Given the description of an element on the screen output the (x, y) to click on. 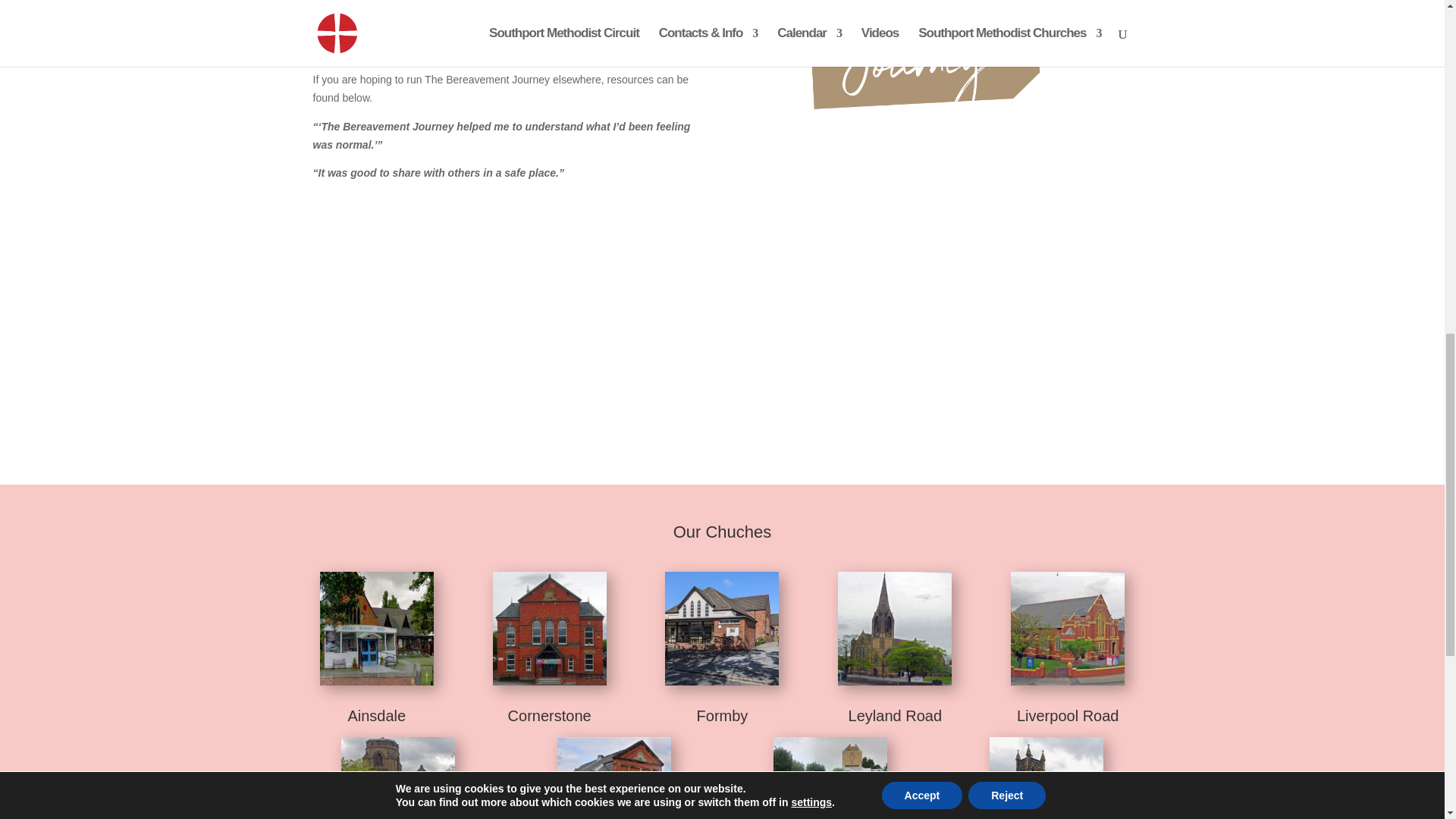
St-Philip-and-Paul-2 (1046, 778)
Elbow Lane Formby Front (721, 628)
Liverpool-Road-Birkdale (1067, 628)
Leyland-Road (895, 628)
Lord-Street-West (397, 778)
Ainsdal-Methodist (376, 628)
Russell-Road (614, 778)
The Bereavement Journey (505, 314)
Cornerstone (550, 628)
St-Francis (829, 778)
